Given the description of an element on the screen output the (x, y) to click on. 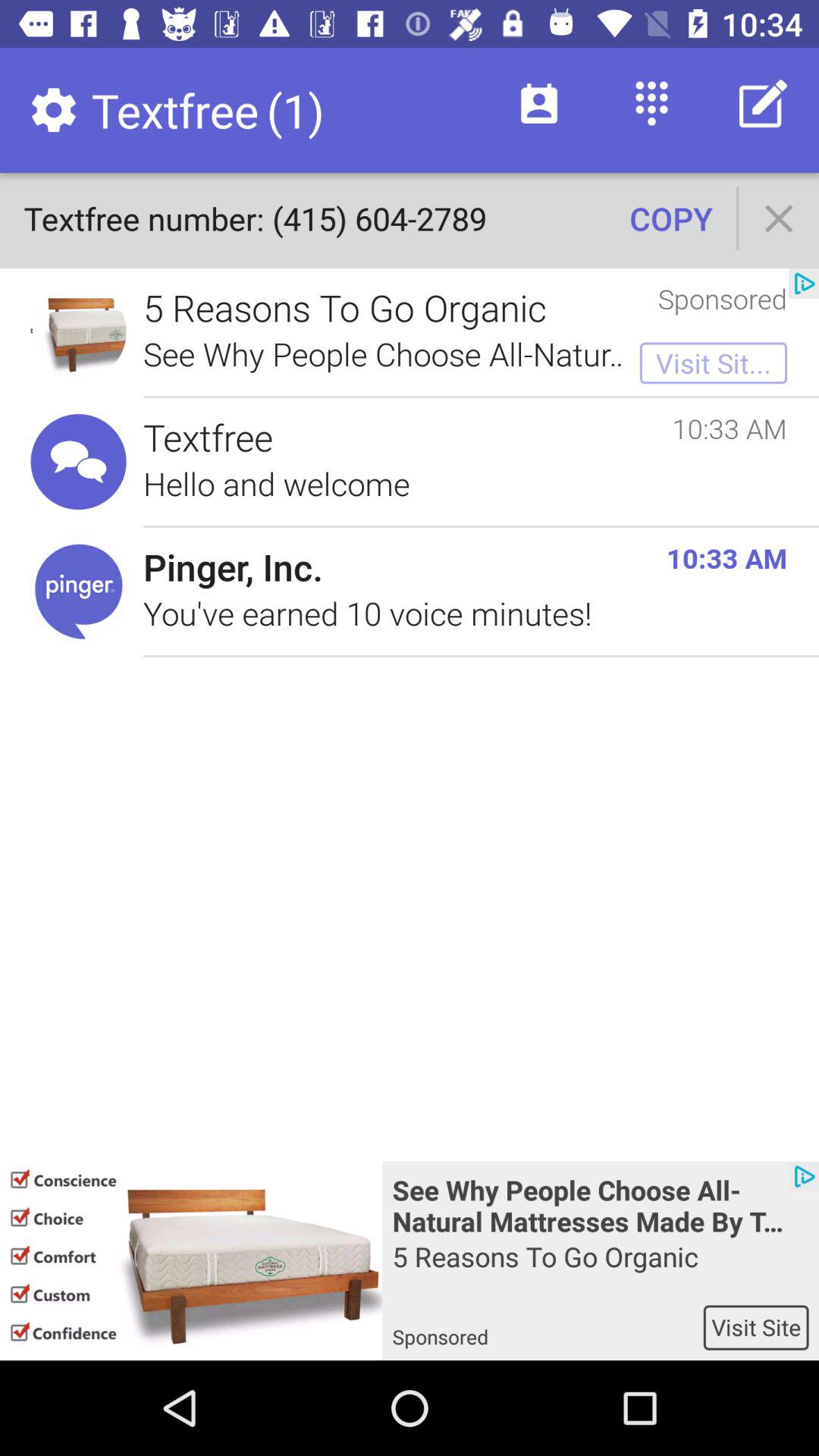
click the icon to the right of textfree number 415 icon (670, 218)
